Given the description of an element on the screen output the (x, y) to click on. 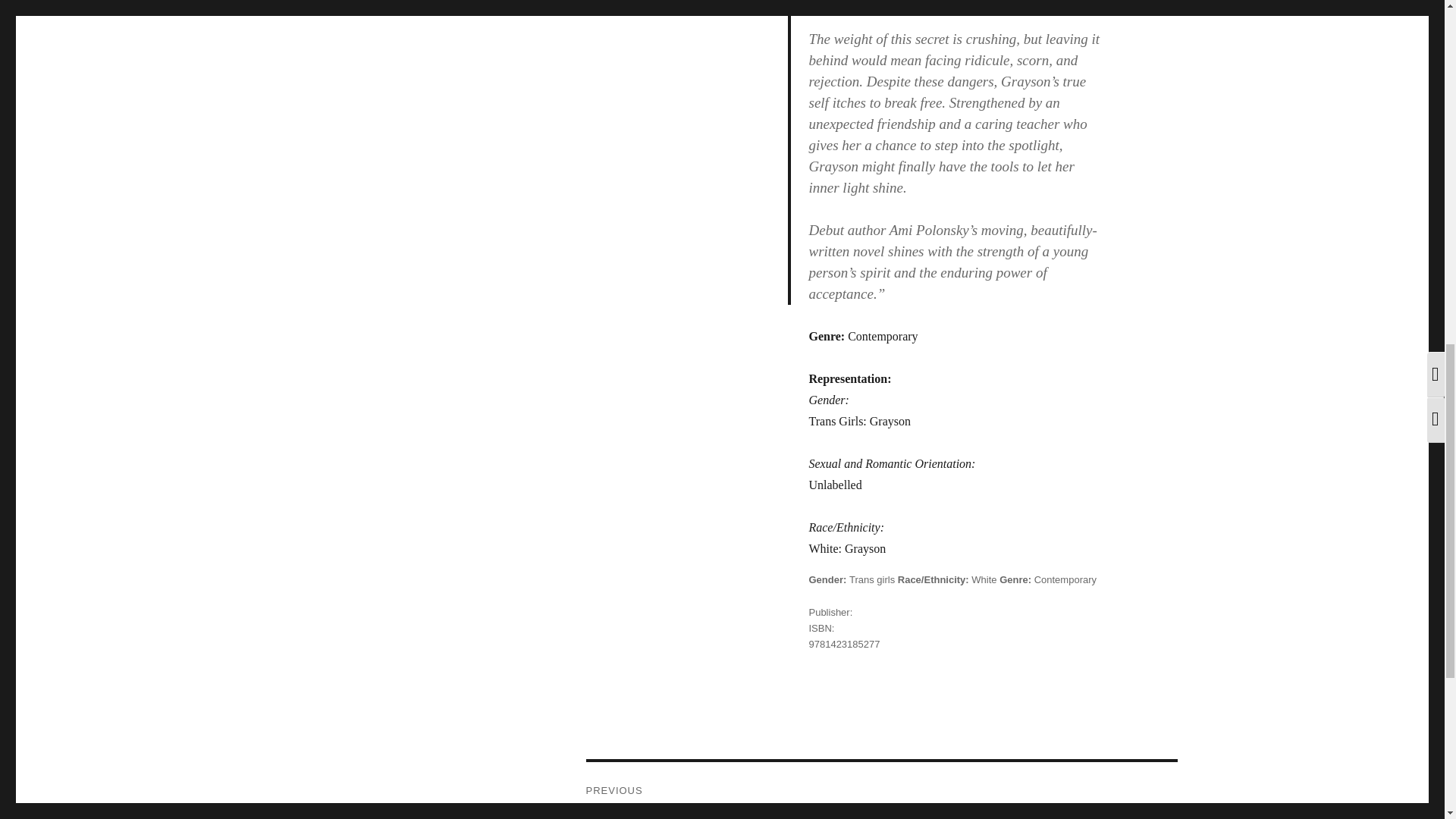
Trans girls (880, 790)
White (871, 579)
Contemporary (983, 579)
